Given the description of an element on the screen output the (x, y) to click on. 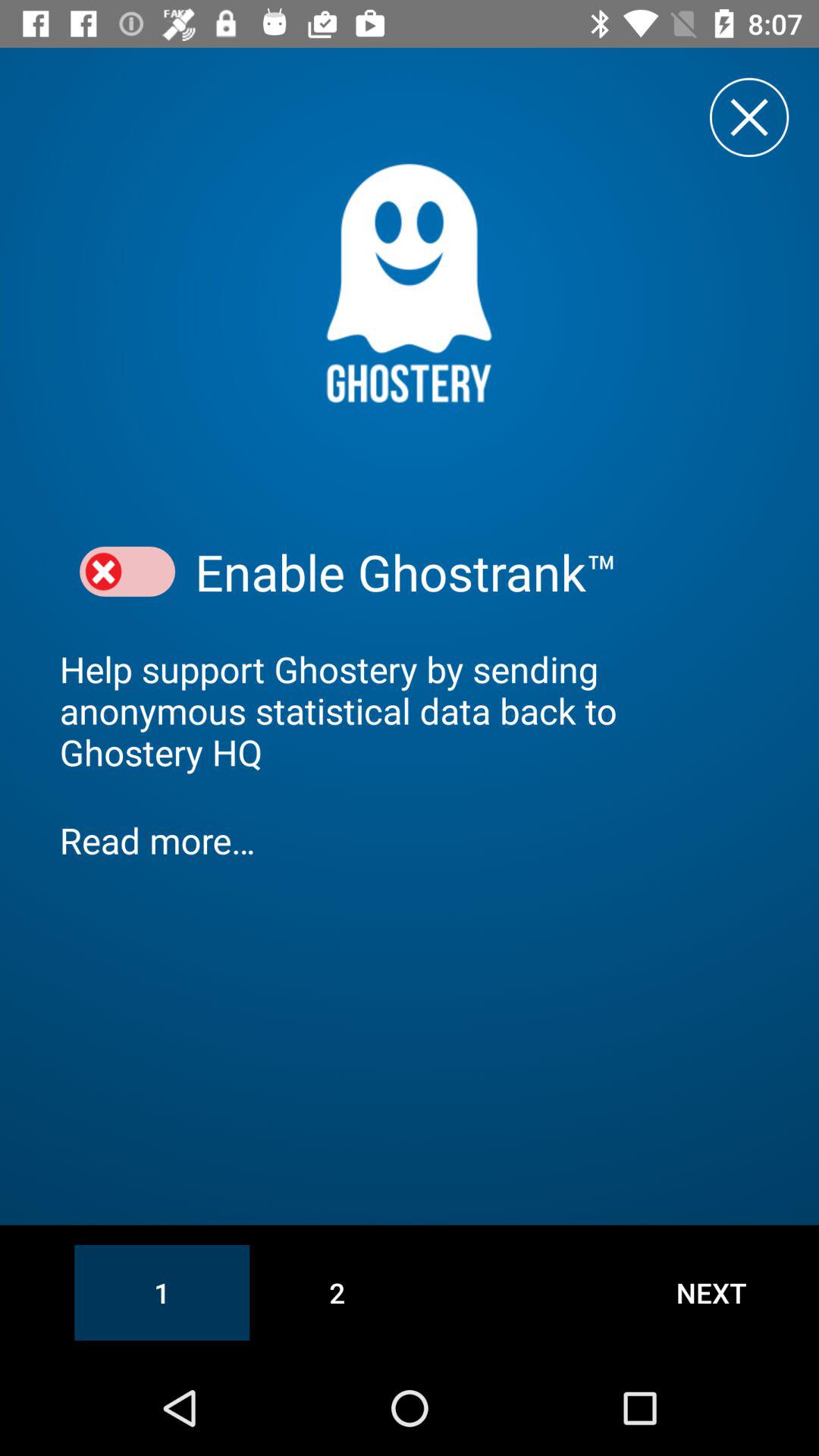
open the item at the bottom right corner (711, 1292)
